Given the description of an element on the screen output the (x, y) to click on. 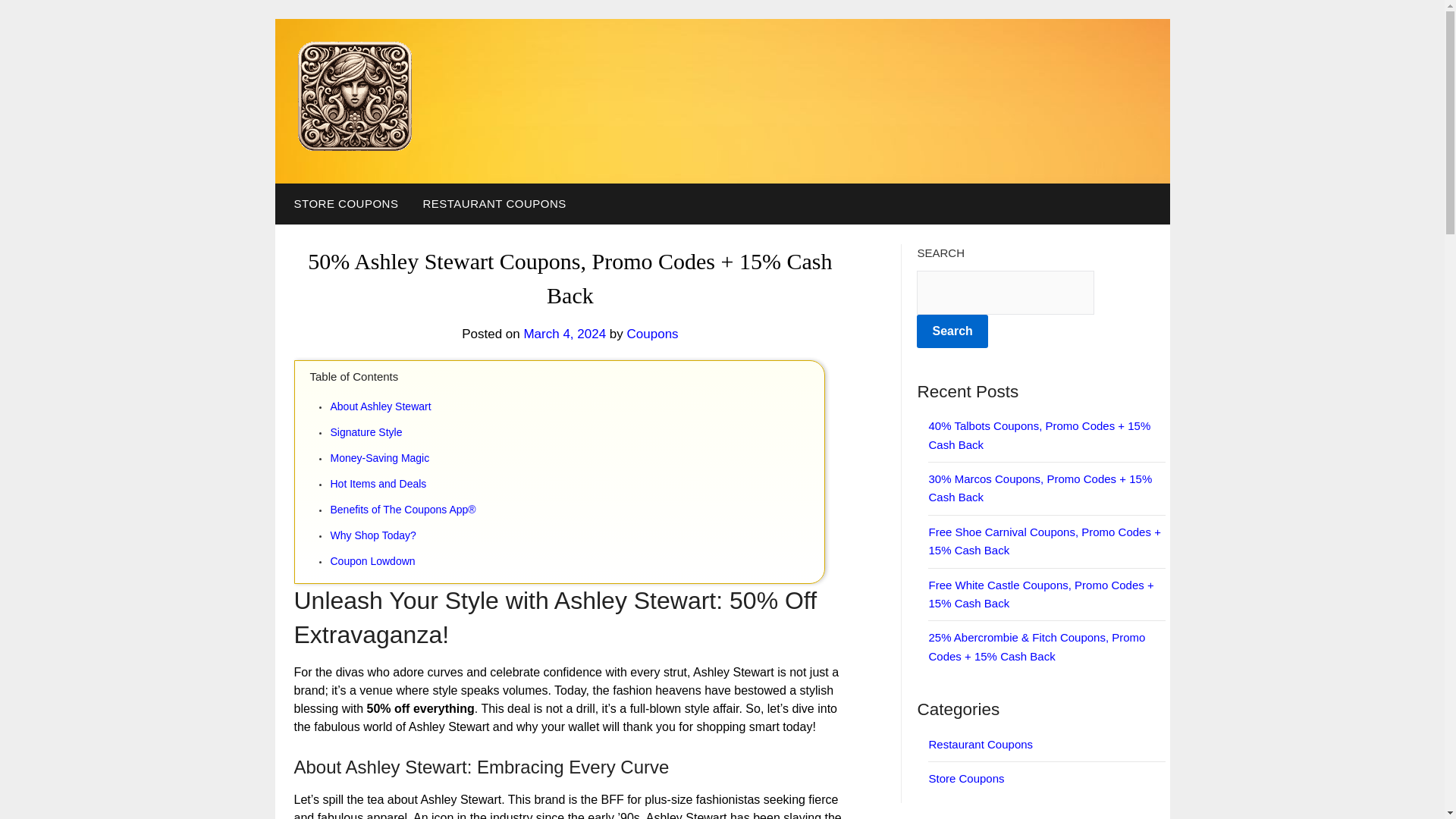
Restaurant Coupons (980, 744)
Hot Items and Deals (576, 483)
Coupon Lowdown (576, 560)
Store Coupons (966, 778)
March 4, 2024 (563, 333)
Coupons (652, 333)
RESTAURANT COUPONS (494, 203)
About Ashley Stewart (576, 405)
Why Shop Today? (576, 535)
Money-Saving Magic (576, 457)
Signature Style (576, 432)
STORE COUPONS (342, 203)
Search (952, 331)
